Given the description of an element on the screen output the (x, y) to click on. 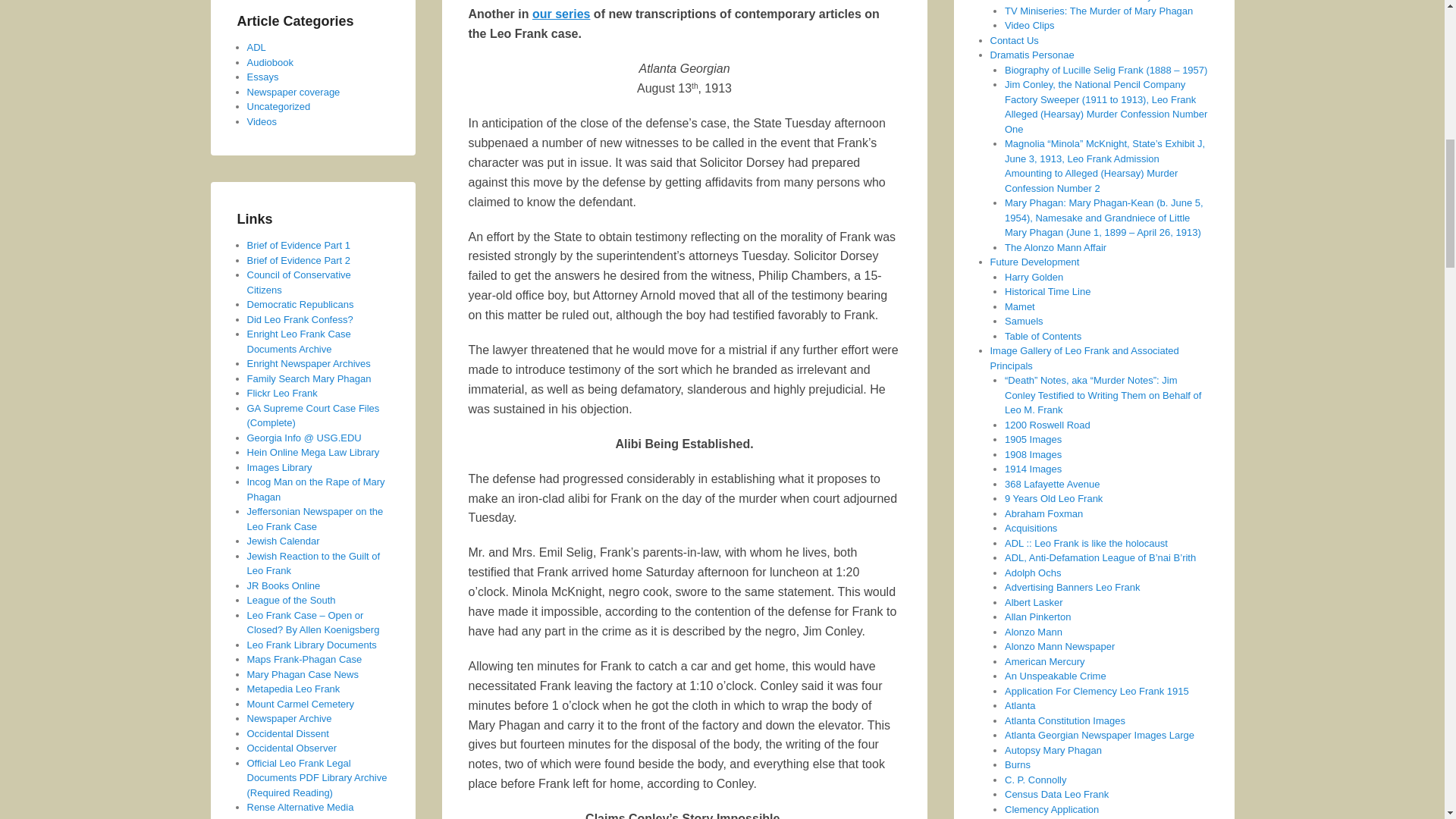
Mount Carmel Cemetery New York (301, 704)
